Given the description of an element on the screen output the (x, y) to click on. 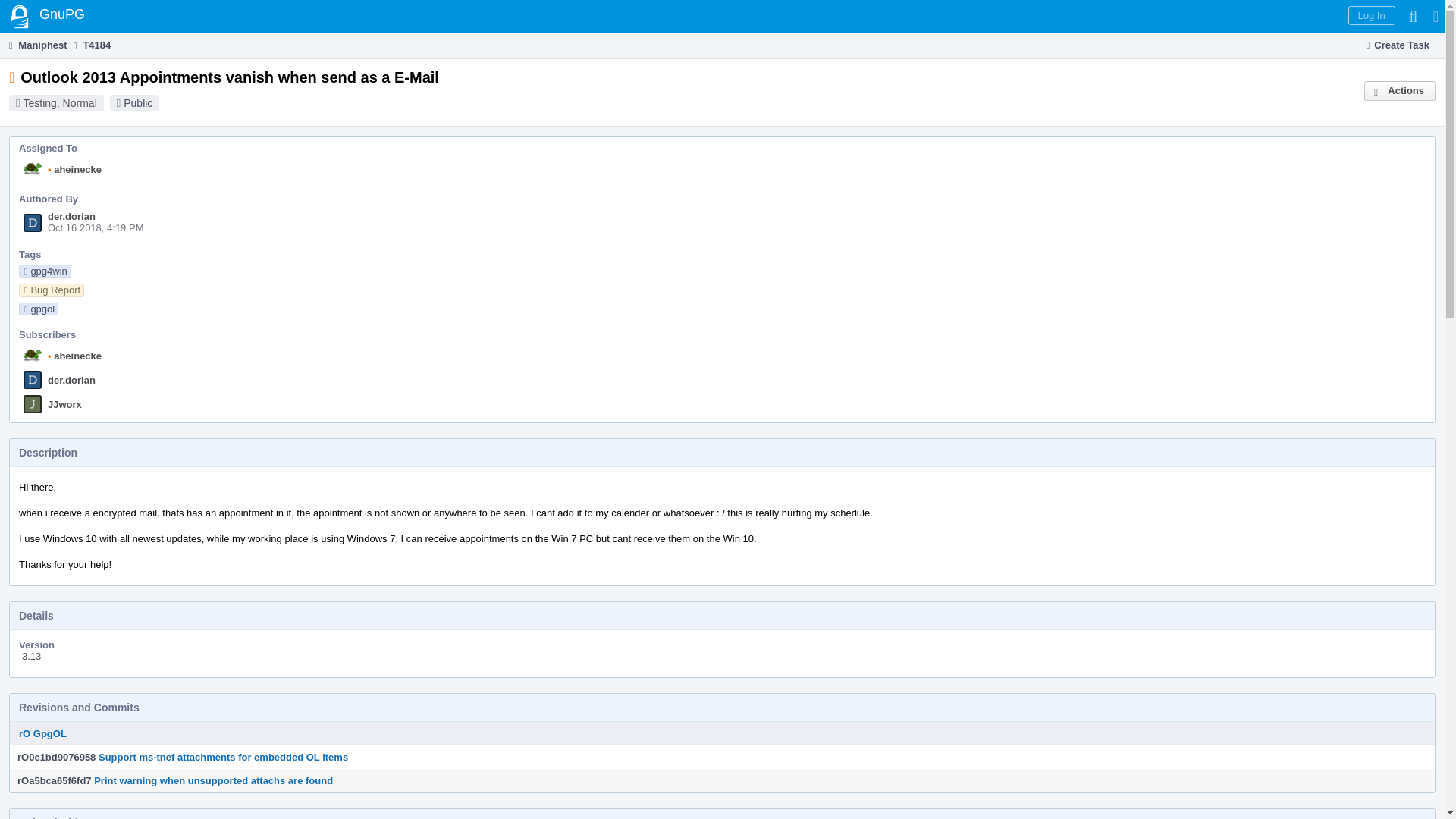
der.dorian (72, 215)
gpgol (38, 308)
Bug Report (51, 289)
Support ms-tnef attachments for embedded OL items (223, 756)
der.dorian (72, 379)
gpg4win (44, 270)
Log In (1371, 15)
Print warning when unsupported attachs are found (213, 780)
Actions (1399, 90)
Maniphest (35, 44)
JJworx (64, 404)
rO GpgOL (42, 733)
GnuPG (47, 16)
Public (137, 102)
Create Task (1397, 45)
